Given the description of an element on the screen output the (x, y) to click on. 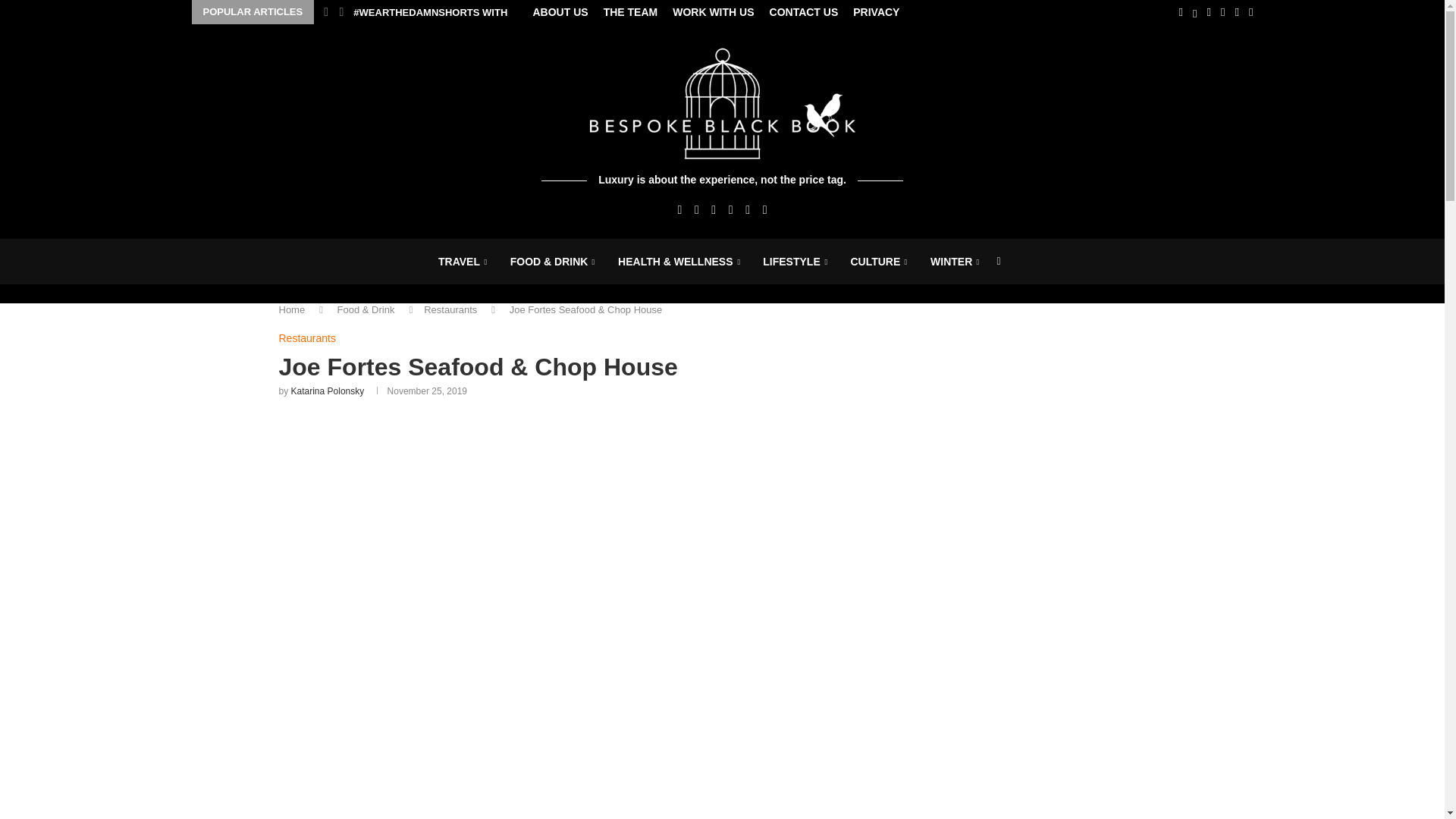
PRIVACY (876, 12)
ABOUT US (560, 12)
Katarina Polonsky (328, 390)
THE TEAM (631, 12)
WORK WITH US (713, 12)
CONTACT US (804, 12)
TRAVEL (462, 261)
